Given the description of an element on the screen output the (x, y) to click on. 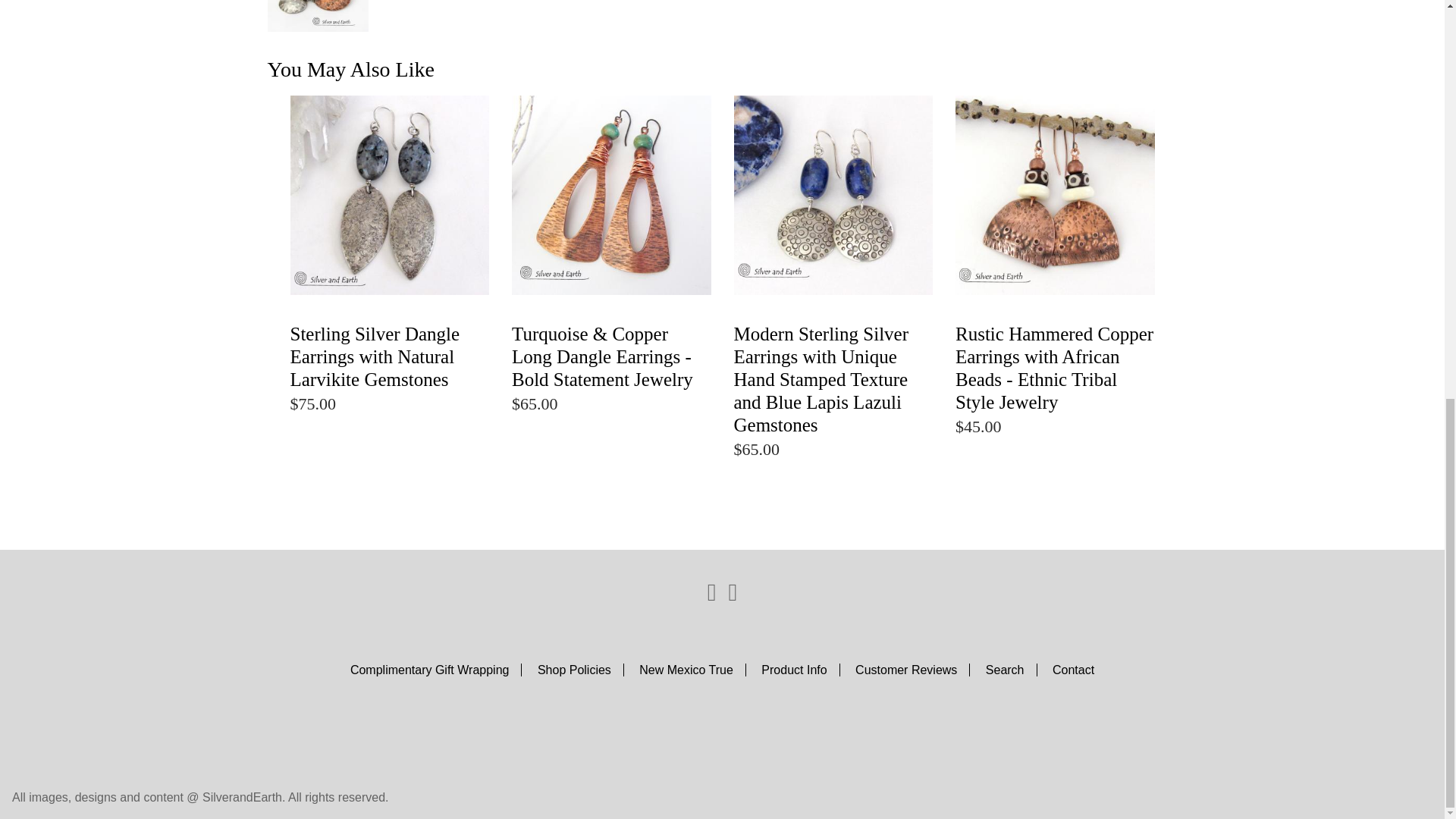
Shop Policies (580, 669)
Search (1010, 669)
New Mexico True (692, 669)
Customer Reviews (912, 669)
Product Info (800, 669)
Complimentary Gift Wrapping (436, 669)
Contact (1073, 669)
